Given the description of an element on the screen output the (x, y) to click on. 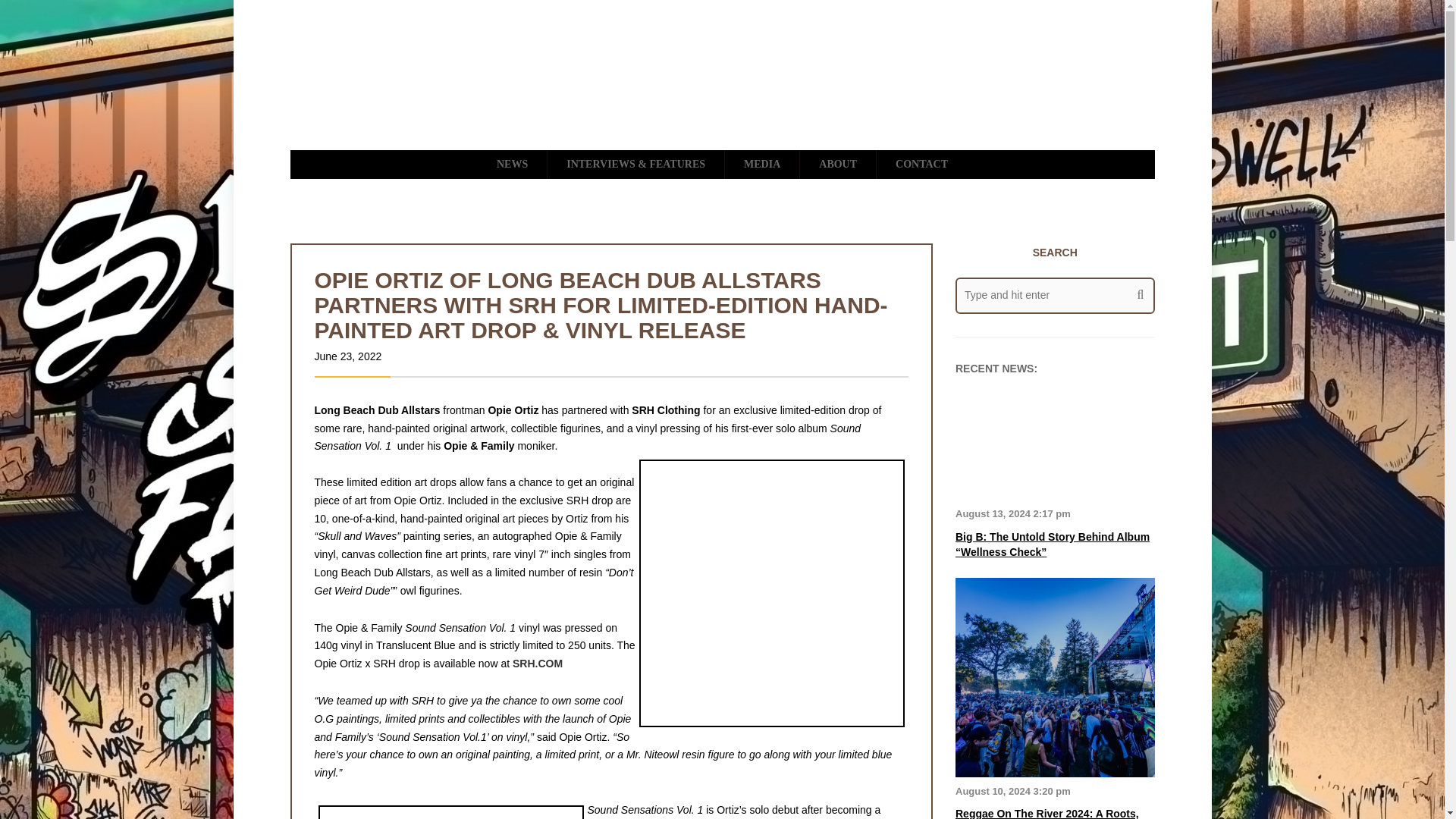
NEWS (512, 164)
MEDIA (762, 164)
CONTACT (921, 164)
Reggae On The River 2024: A Roots, Rock, Reggae Reunion (1046, 813)
SRH.COM (537, 663)
ABOUT (837, 164)
